Given the description of an element on the screen output the (x, y) to click on. 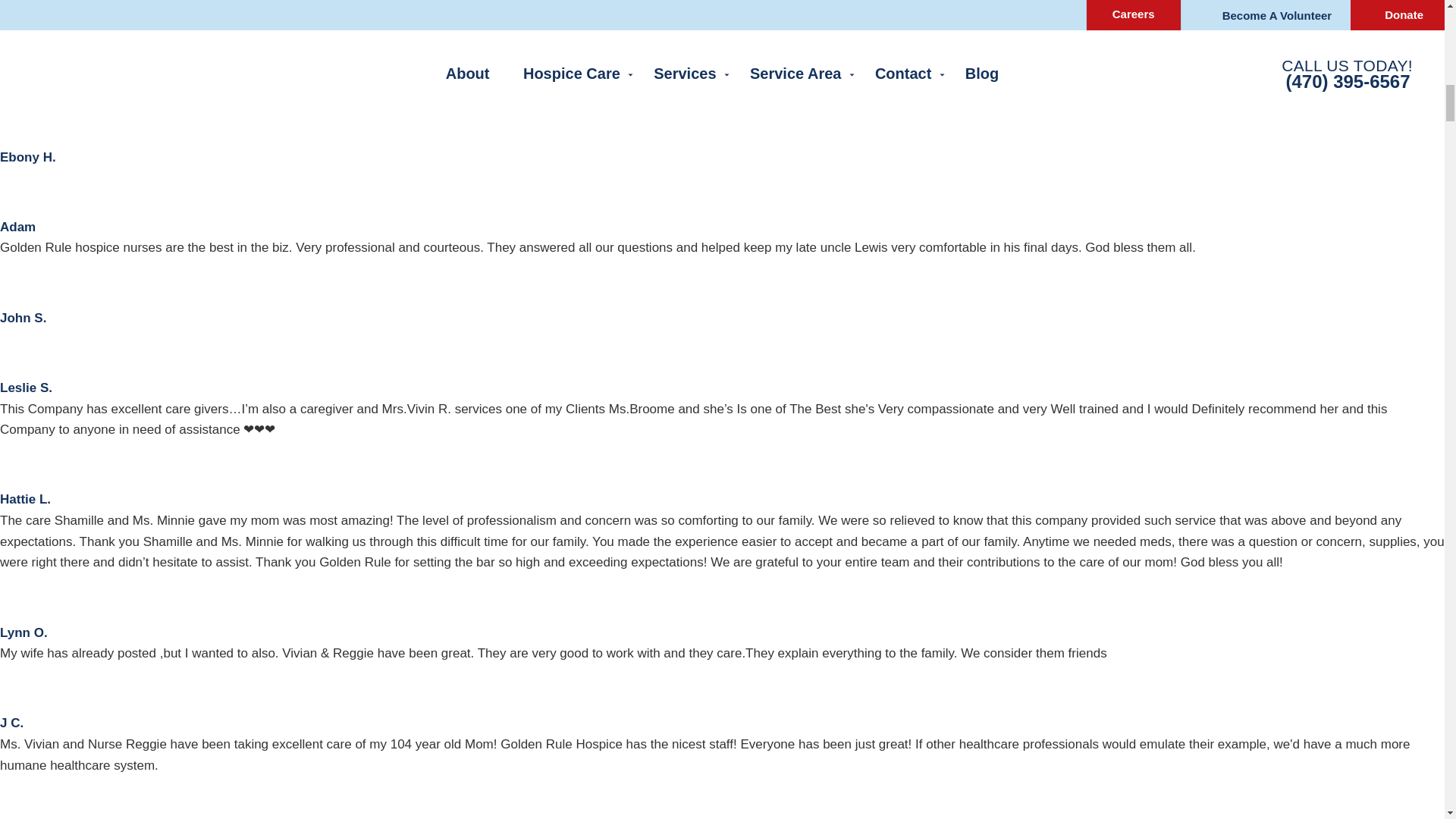
Hattie L. (21, 461)
Ebony H. (21, 118)
Adam (17, 227)
Adam (21, 188)
John S. (23, 318)
Leslie S. (26, 387)
John S. (21, 279)
Ebony H. (28, 156)
Leslie S. (21, 349)
